Given the description of an element on the screen output the (x, y) to click on. 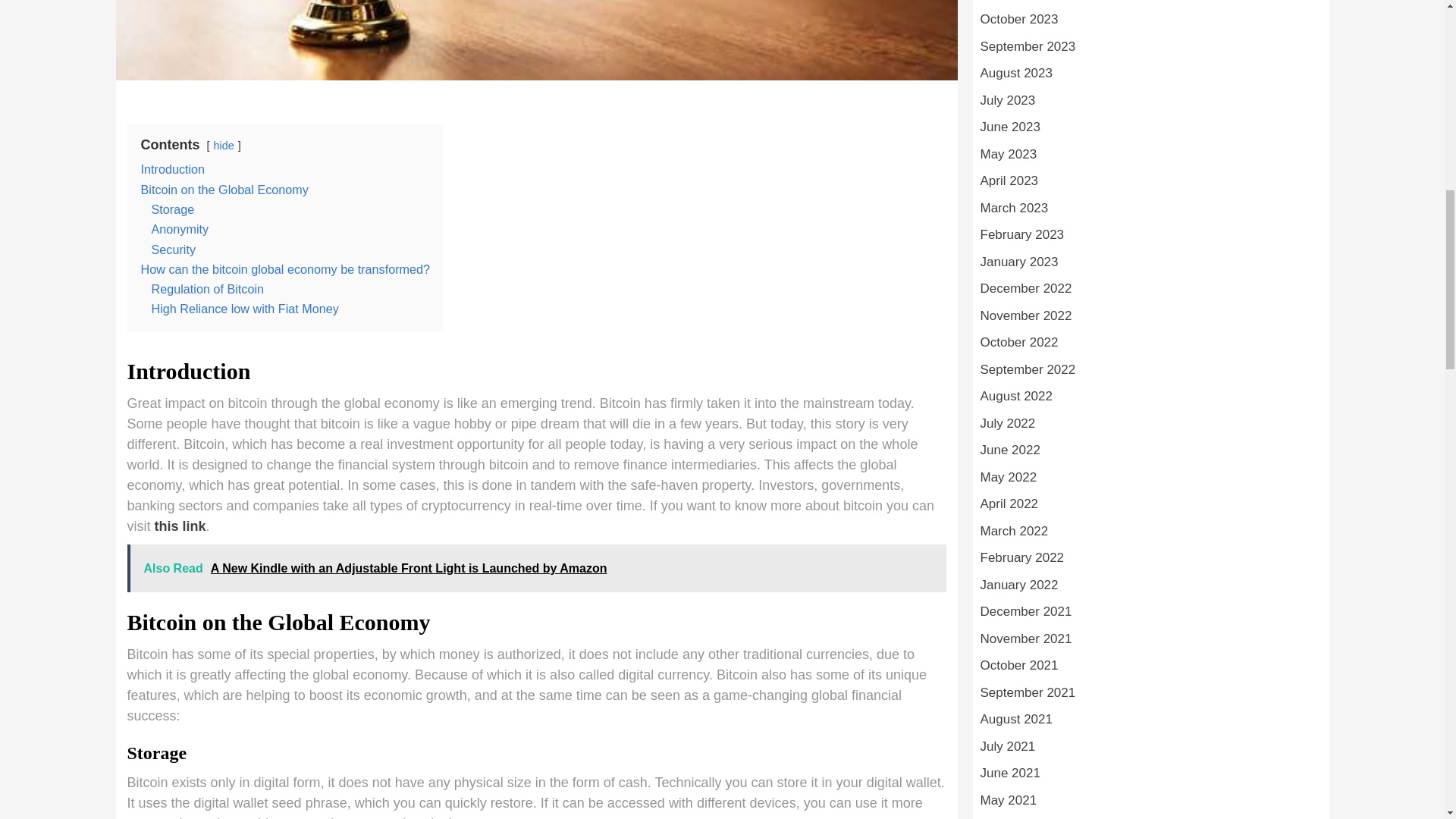
How can the bitcoin global economy be transformed? (285, 269)
this link (180, 525)
High Reliance low with Fiat Money (245, 308)
Regulation of Bitcoin (207, 288)
Introduction (173, 169)
hide (224, 145)
Storage (173, 209)
Anonymity (180, 228)
Bitcoin on the Global Economy (224, 189)
